Given the description of an element on the screen output the (x, y) to click on. 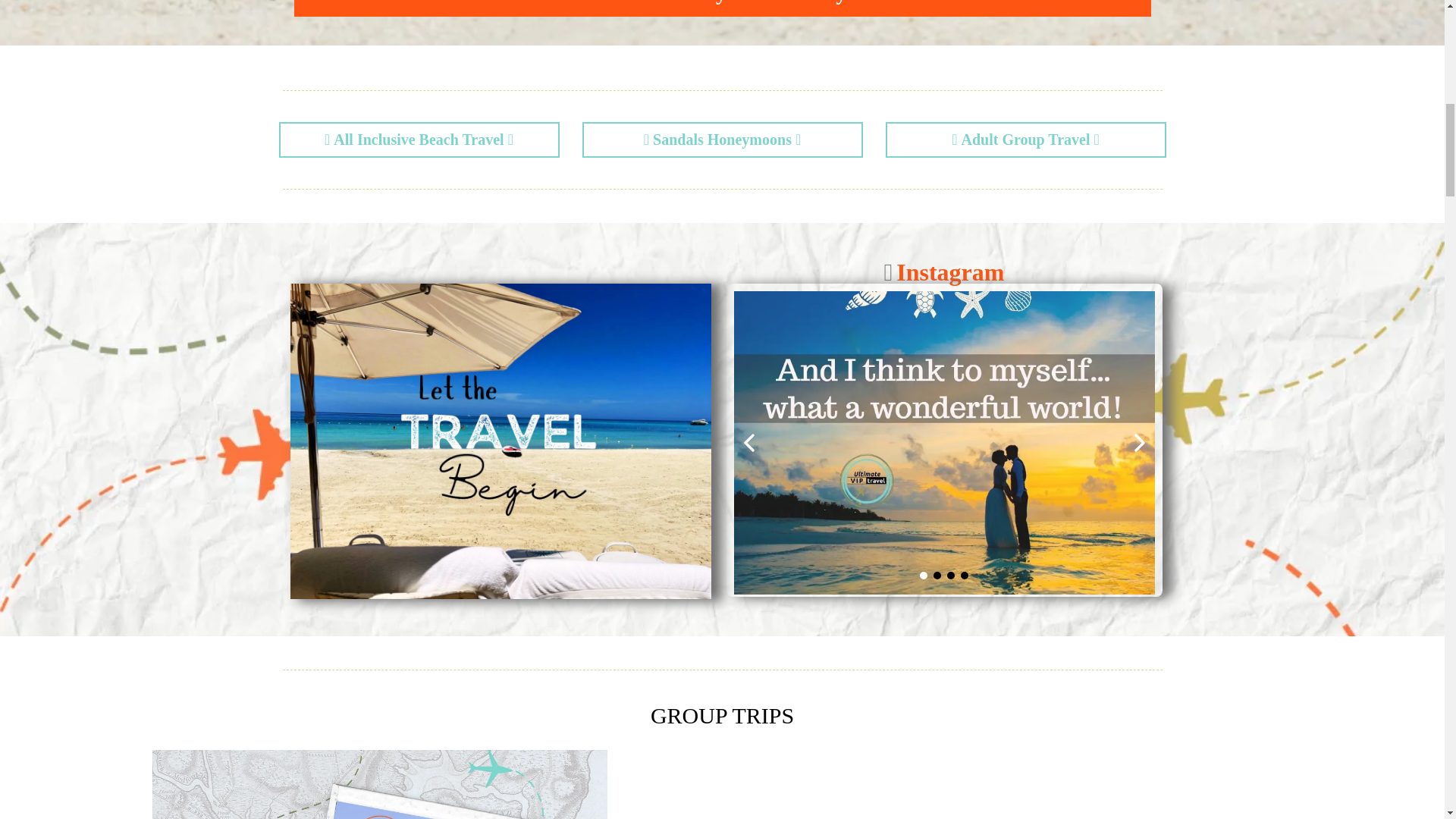
Yes! I'm ready to Get Away! (722, 8)
Adult Group Travel (1024, 139)
All Inclusive Beach Travel (418, 139)
Sandals Honeymoons (721, 139)
